Given the description of an element on the screen output the (x, y) to click on. 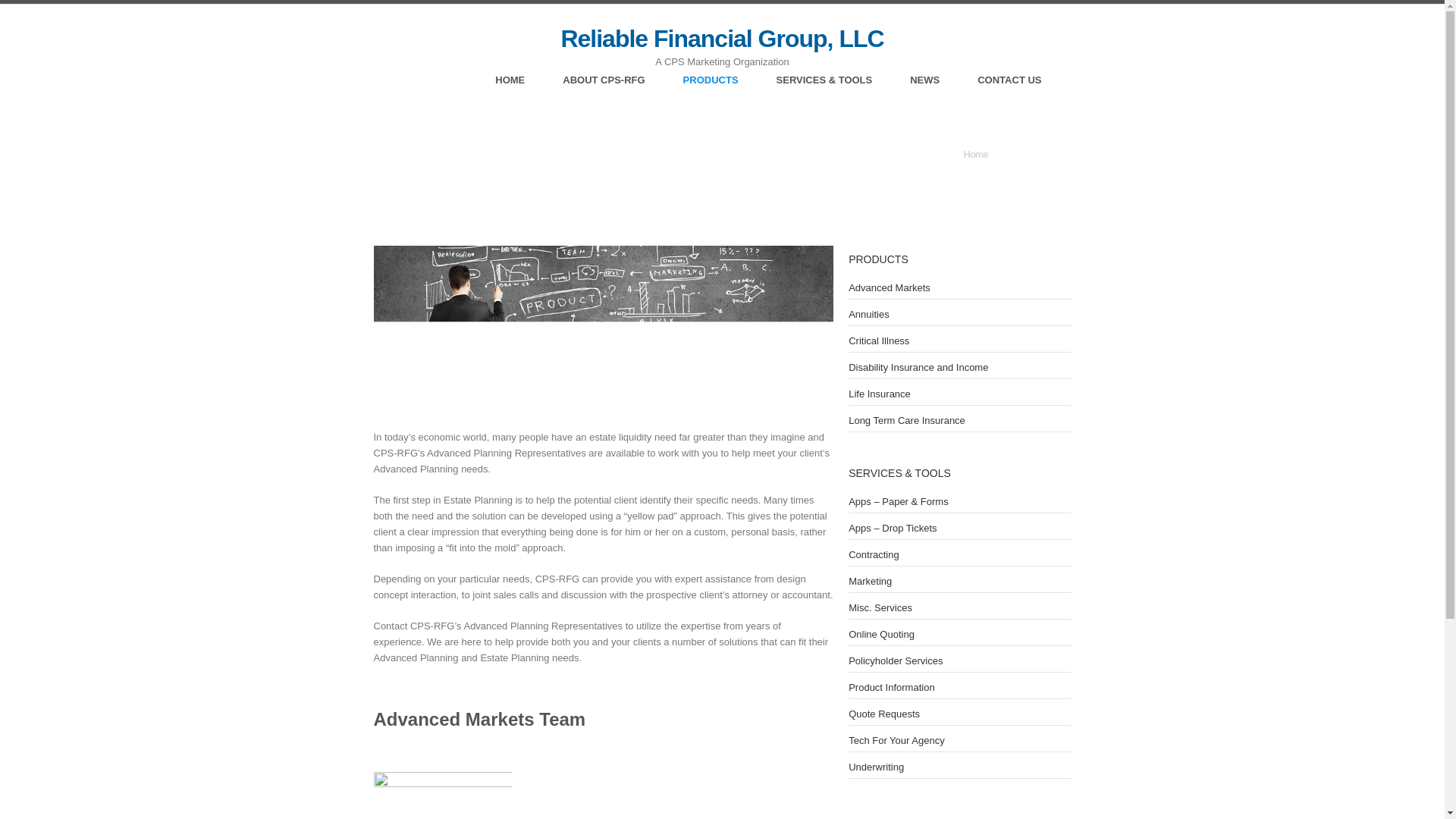
Critical Illness (878, 340)
Online Quoting (881, 633)
Marketing (869, 581)
Life Insurance (879, 393)
Reliable Financial Group, LLC (721, 38)
Advanced Markets (889, 287)
Disability Insurance and Income (918, 367)
CPS Reliable (721, 38)
HOME (509, 82)
Home (974, 153)
